Given the description of an element on the screen output the (x, y) to click on. 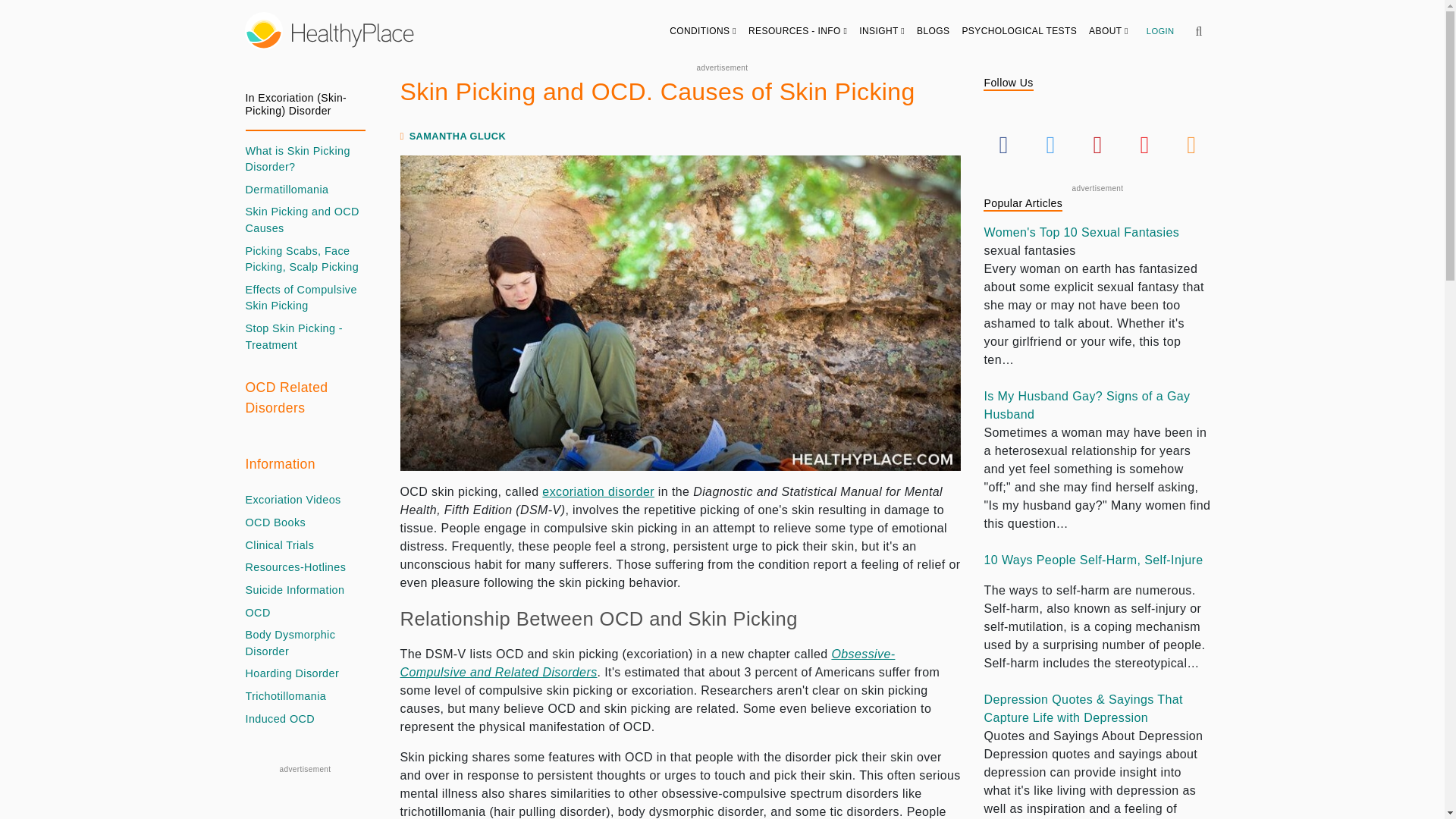
What is Obsessive-Compulsive and Related Disorders in DSM-5? (647, 662)
What is Skin Picking, Excoriation Disorder? (597, 491)
CONDITIONS (702, 31)
INSIGHT (882, 31)
RESOURCES - INFO (797, 31)
